Given the description of an element on the screen output the (x, y) to click on. 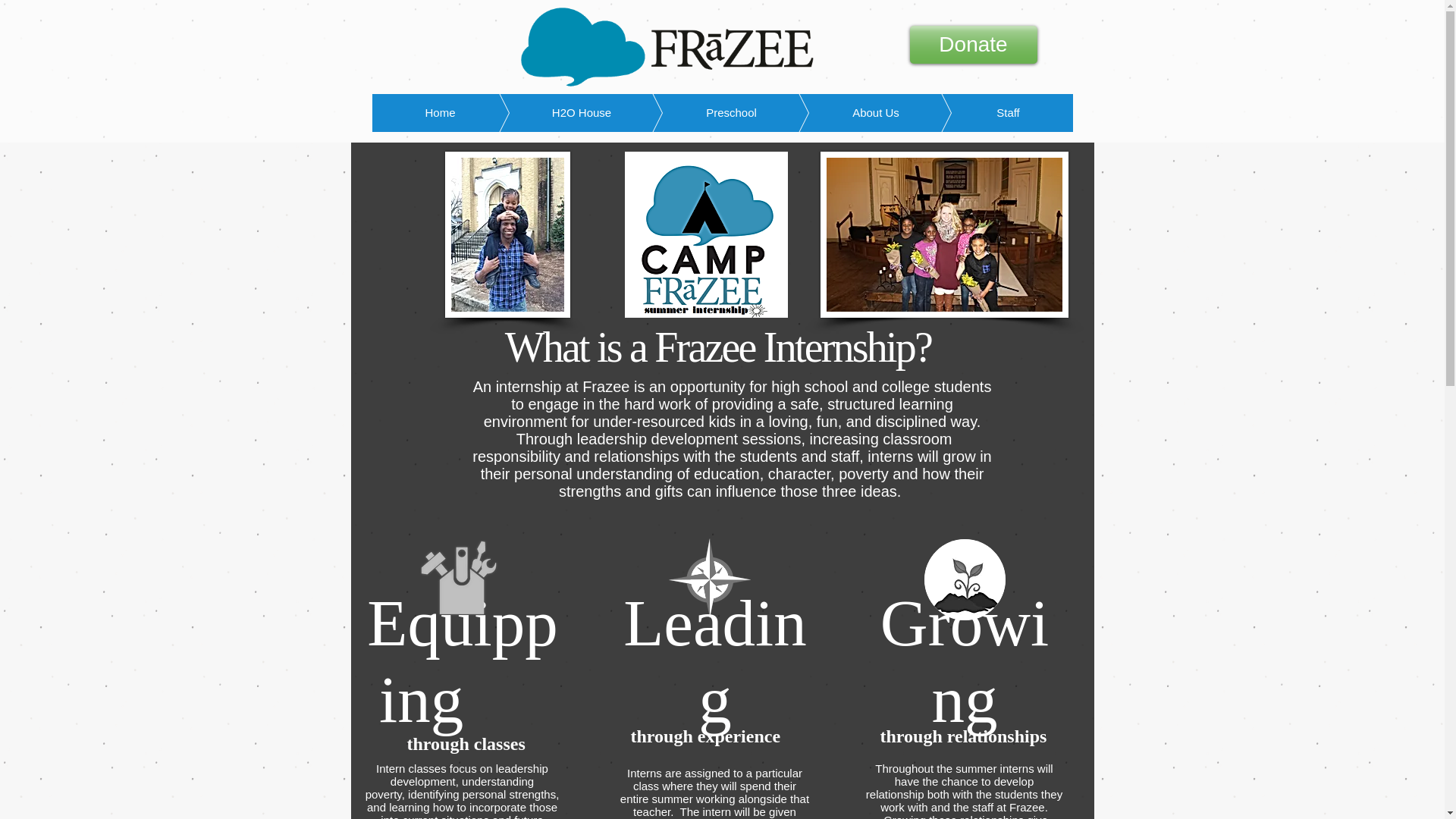
Donate (973, 44)
Preschool (709, 112)
Home (439, 112)
H2O House (559, 112)
About Us (852, 112)
Staff (984, 112)
